Given the description of an element on the screen output the (x, y) to click on. 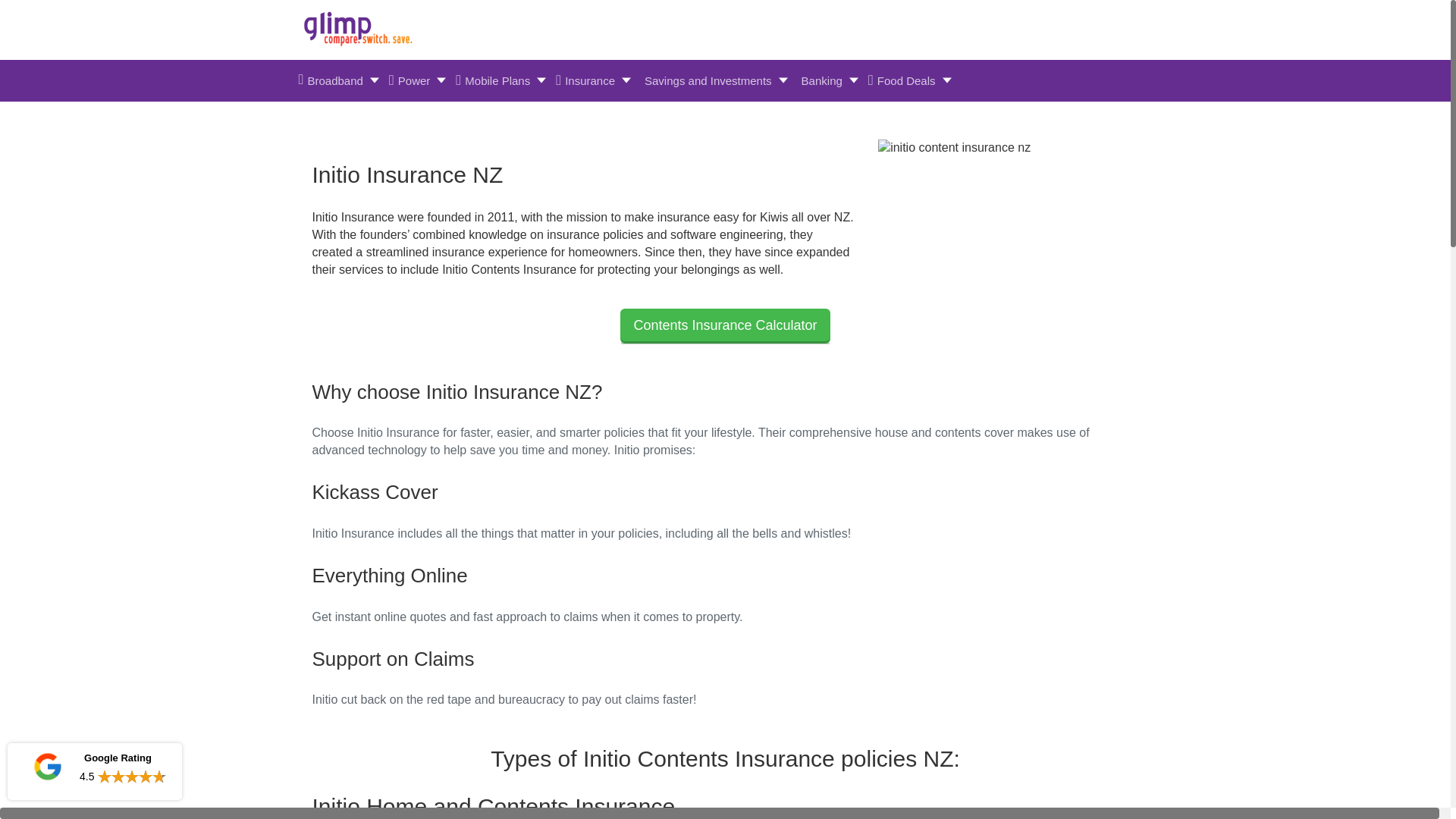
Mobile Plans (499, 80)
Broadband (337, 80)
Power (416, 80)
Insurance (592, 80)
